Given the description of an element on the screen output the (x, y) to click on. 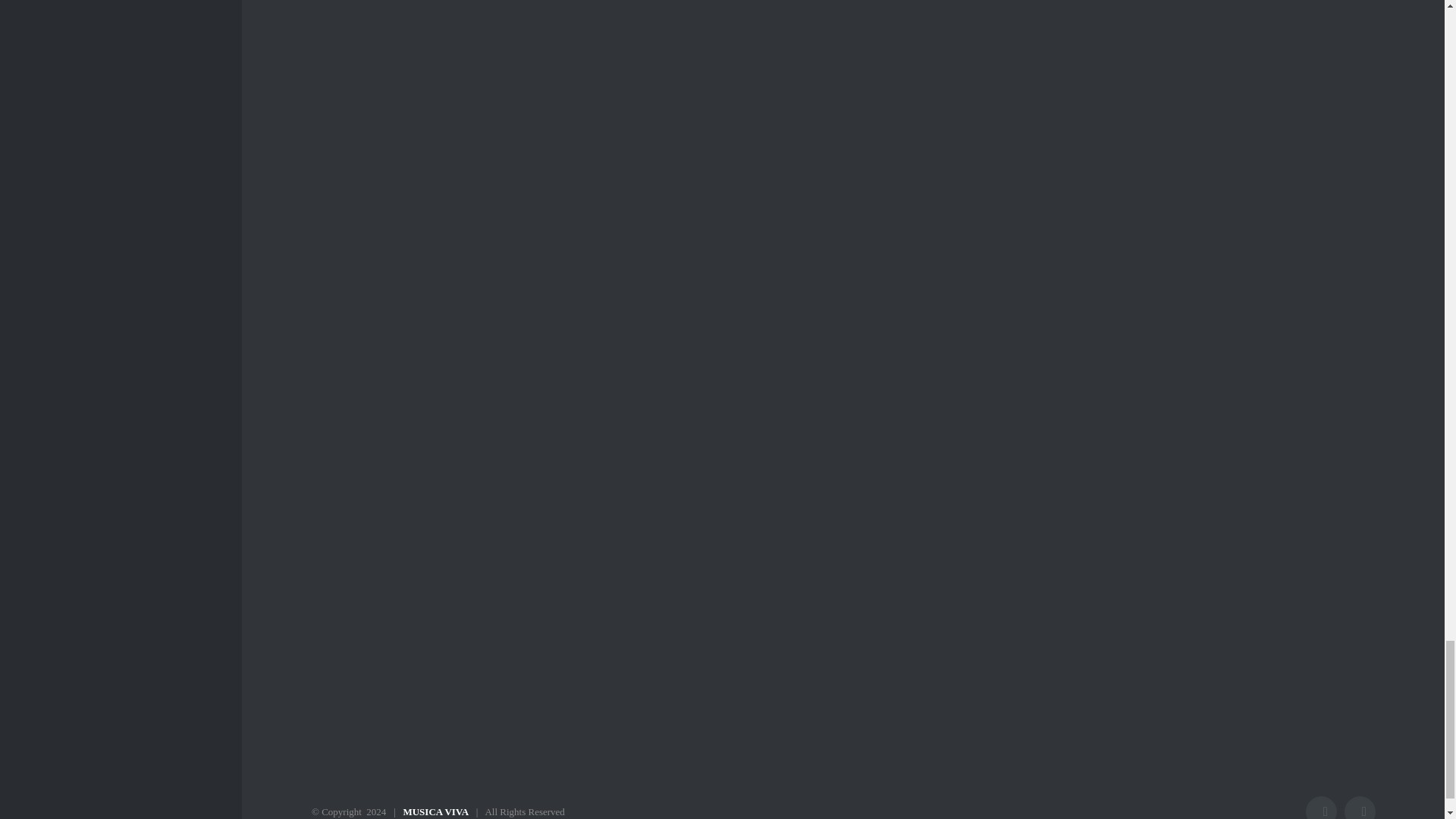
Facebook (1321, 807)
Facebook (1321, 807)
Vimeo (1359, 807)
Vimeo (1359, 807)
